Given the description of an element on the screen output the (x, y) to click on. 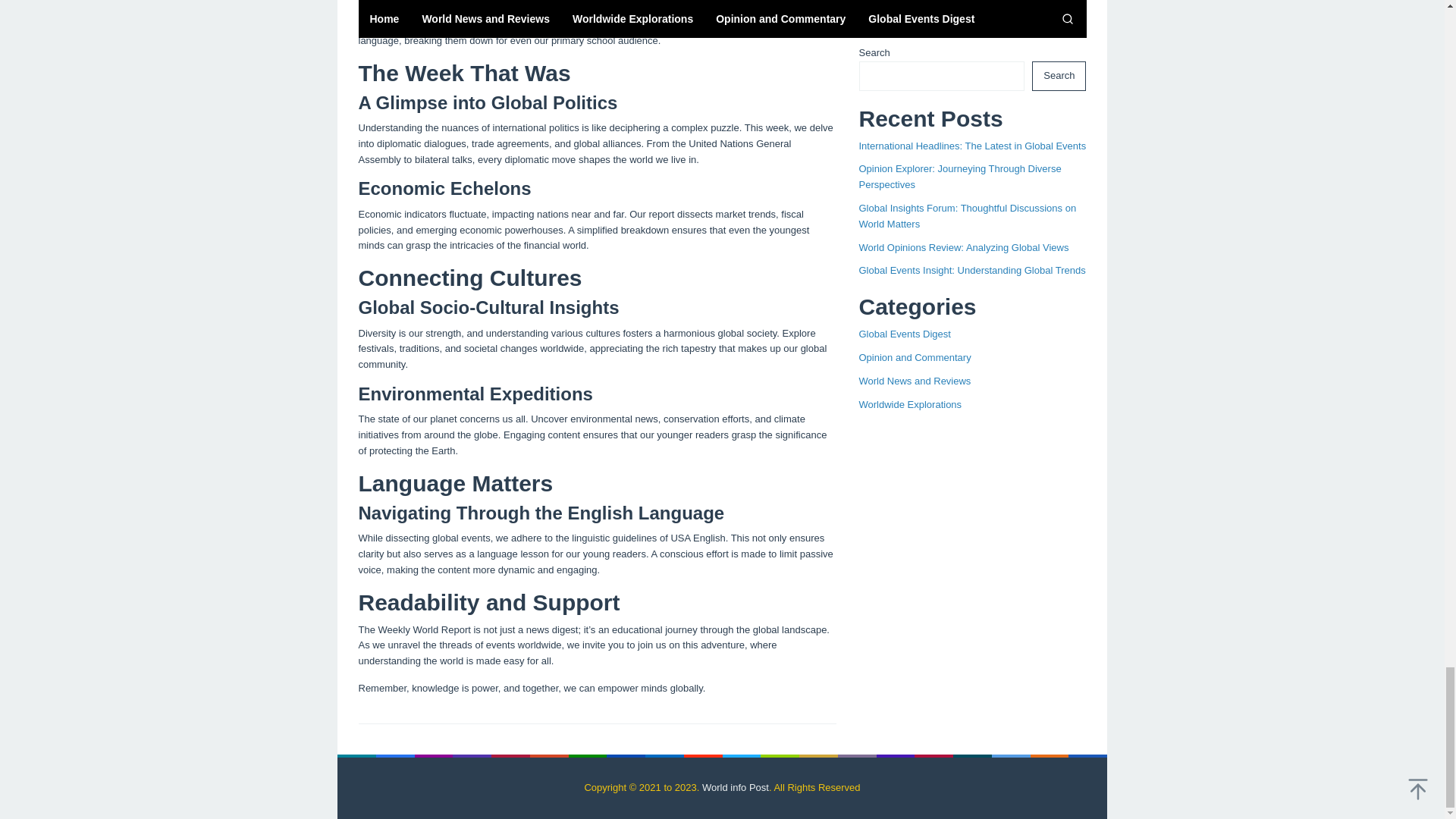
World info Post (734, 787)
